Given the description of an element on the screen output the (x, y) to click on. 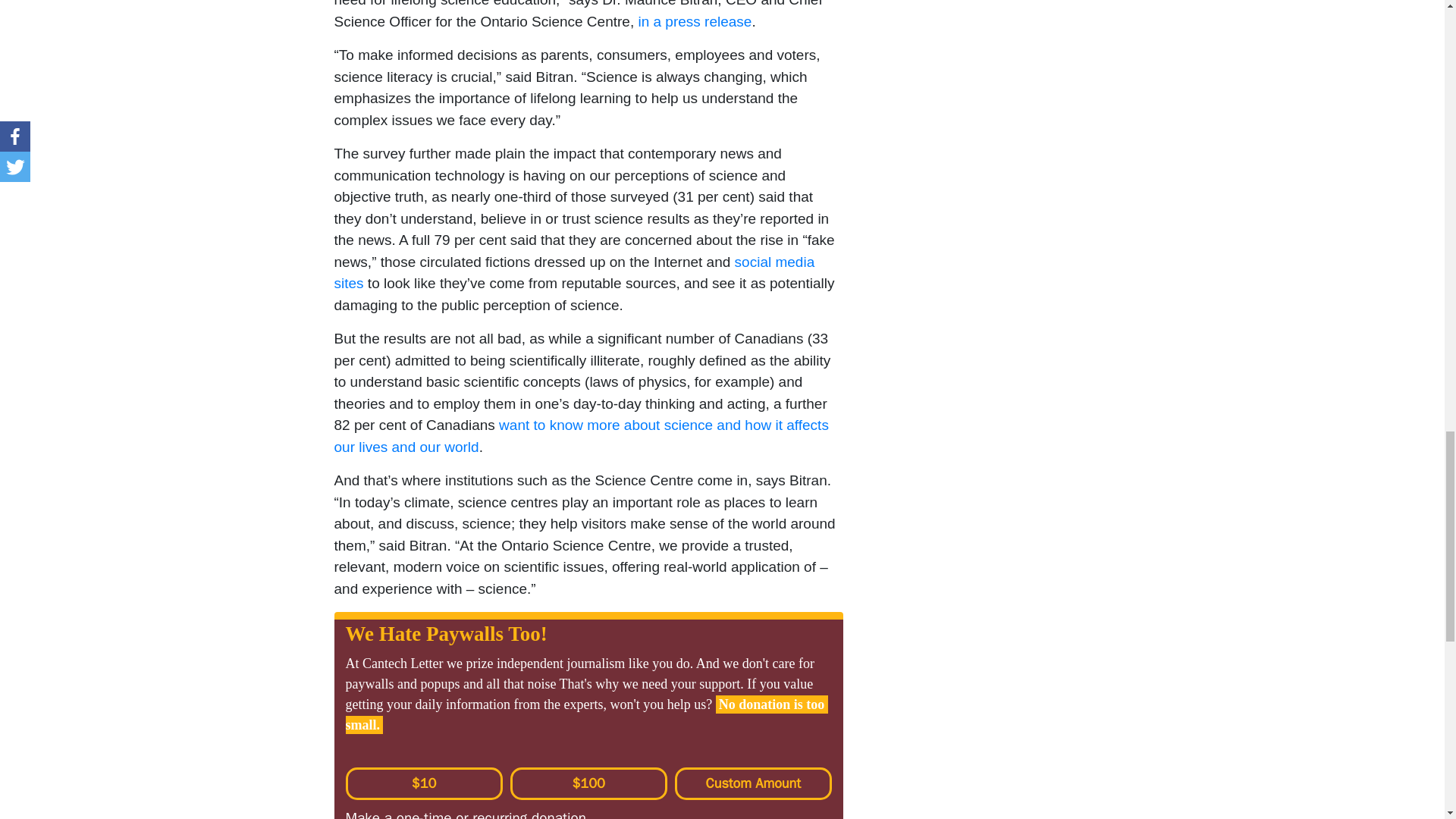
social media sites (575, 272)
in a press release (694, 21)
